Given the description of an element on the screen output the (x, y) to click on. 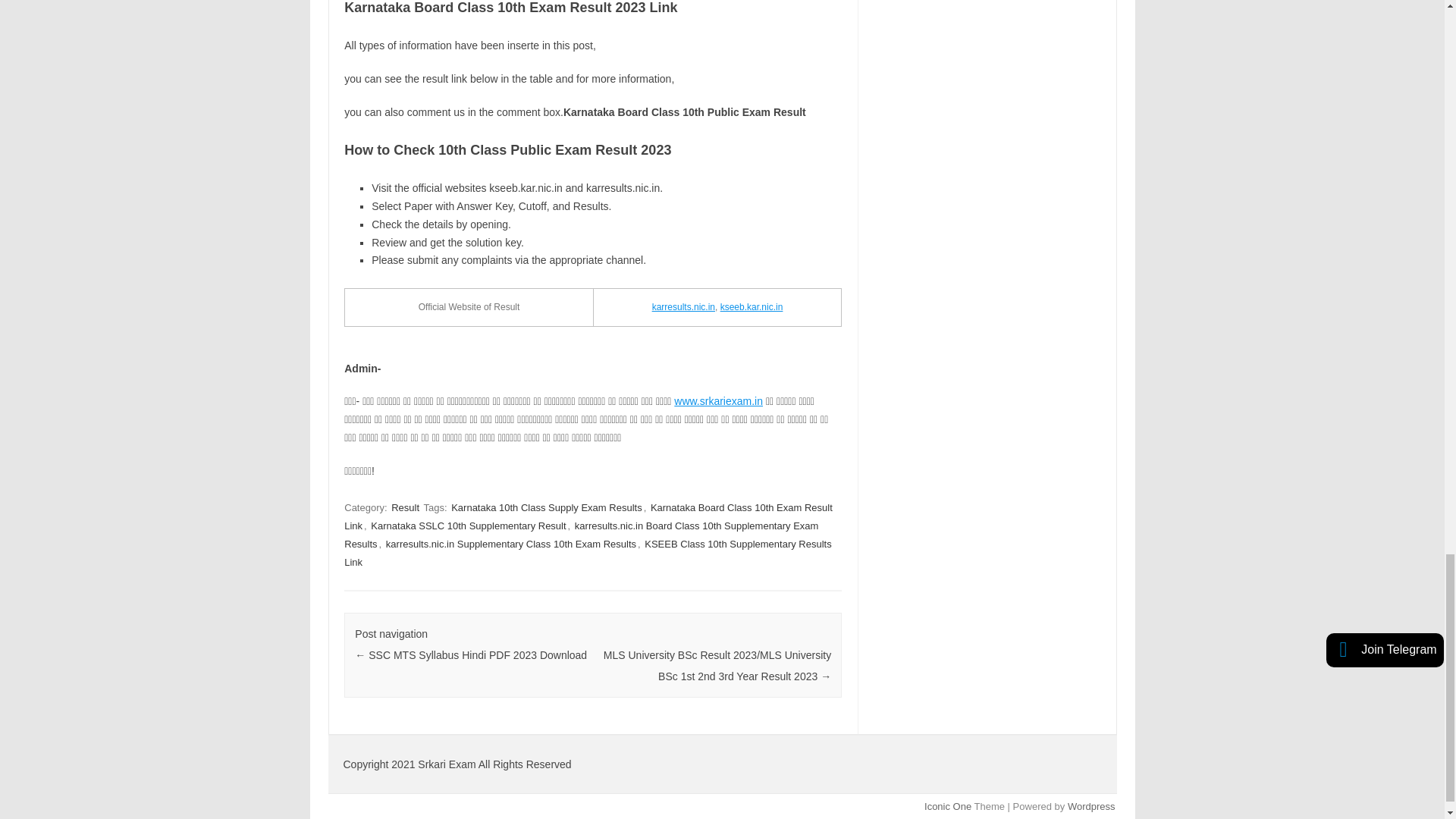
Karnataka SSLC 10th Supplementary Result (468, 525)
karresults.nic.in (683, 307)
Karnataka Board Class 10th Exam Result Link (587, 516)
Result (405, 507)
Karnataka 10th Class Supply Exam Results (546, 507)
KSEEB Class 10th Supplementary Results Link (587, 553)
kseeb.kar.nic.in (751, 307)
karresults.nic.in Supplementary Class 10th Exam Results (510, 544)
www.srkariexam.in (718, 400)
